Given the description of an element on the screen output the (x, y) to click on. 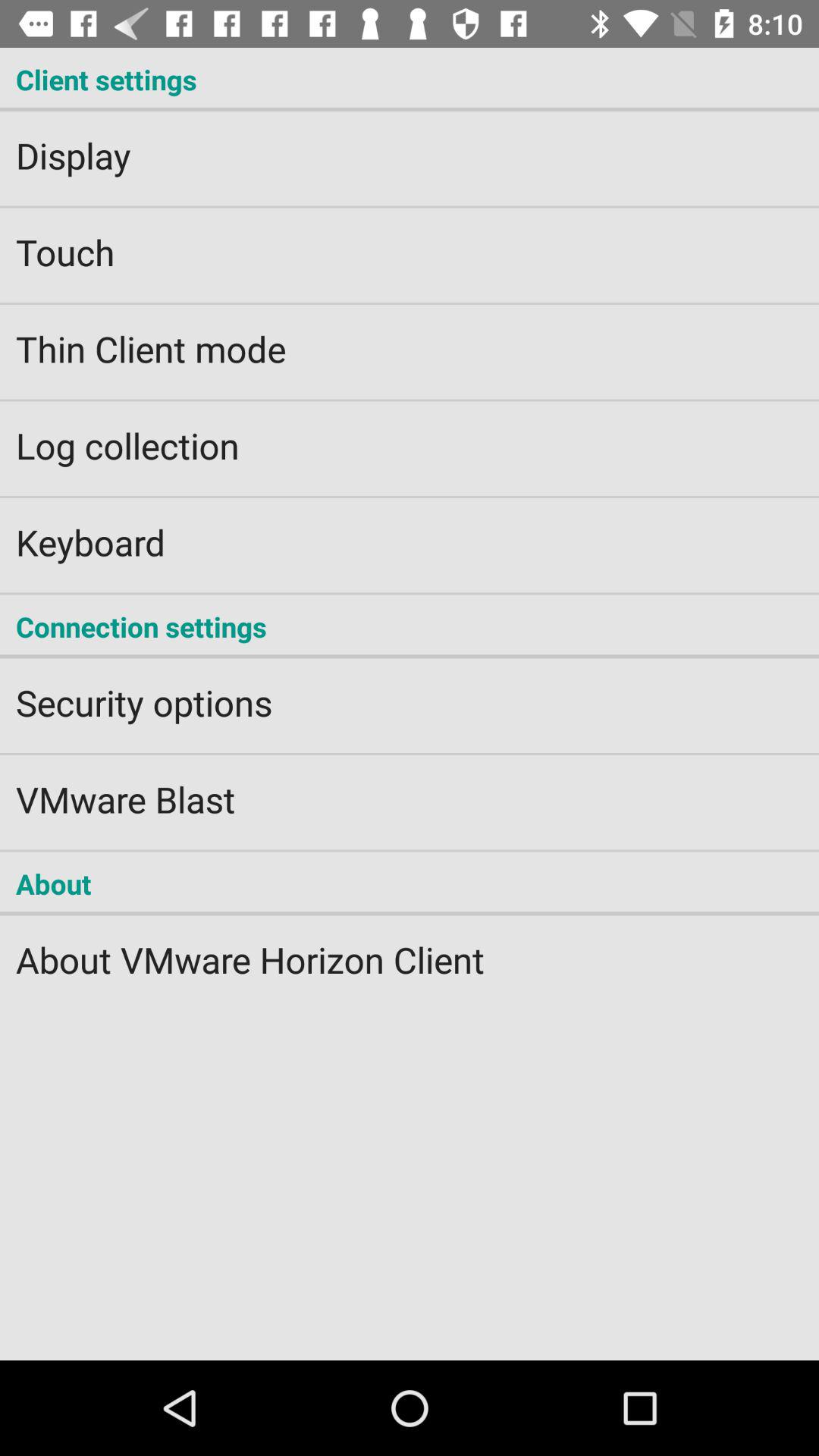
turn off touch (409, 242)
